Given the description of an element on the screen output the (x, y) to click on. 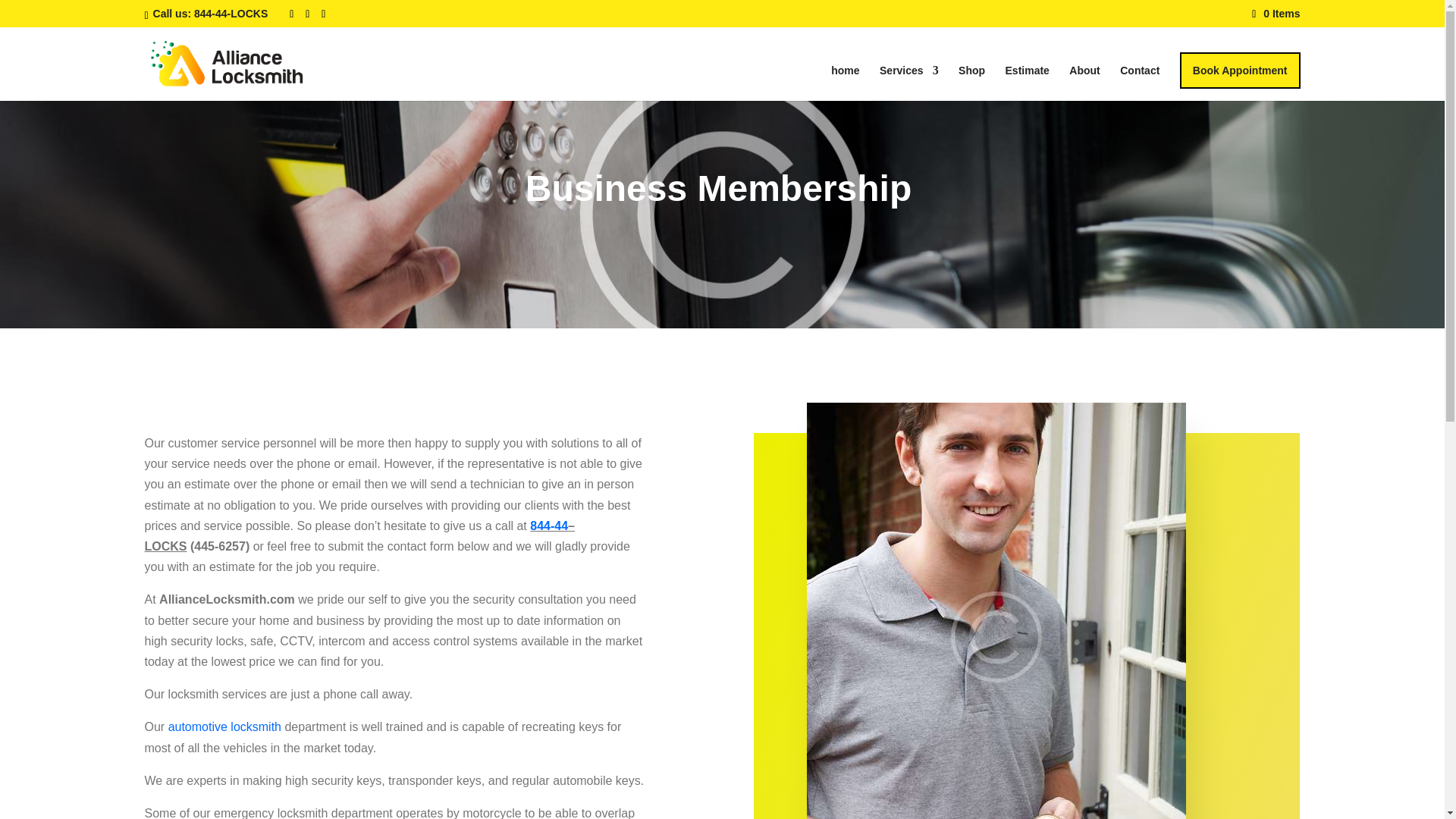
Estimate (1027, 82)
Contact (1138, 82)
Book Appointment (1239, 70)
844-44-LOCKS (231, 13)
0 Items (1276, 13)
Services (909, 82)
